Given the description of an element on the screen output the (x, y) to click on. 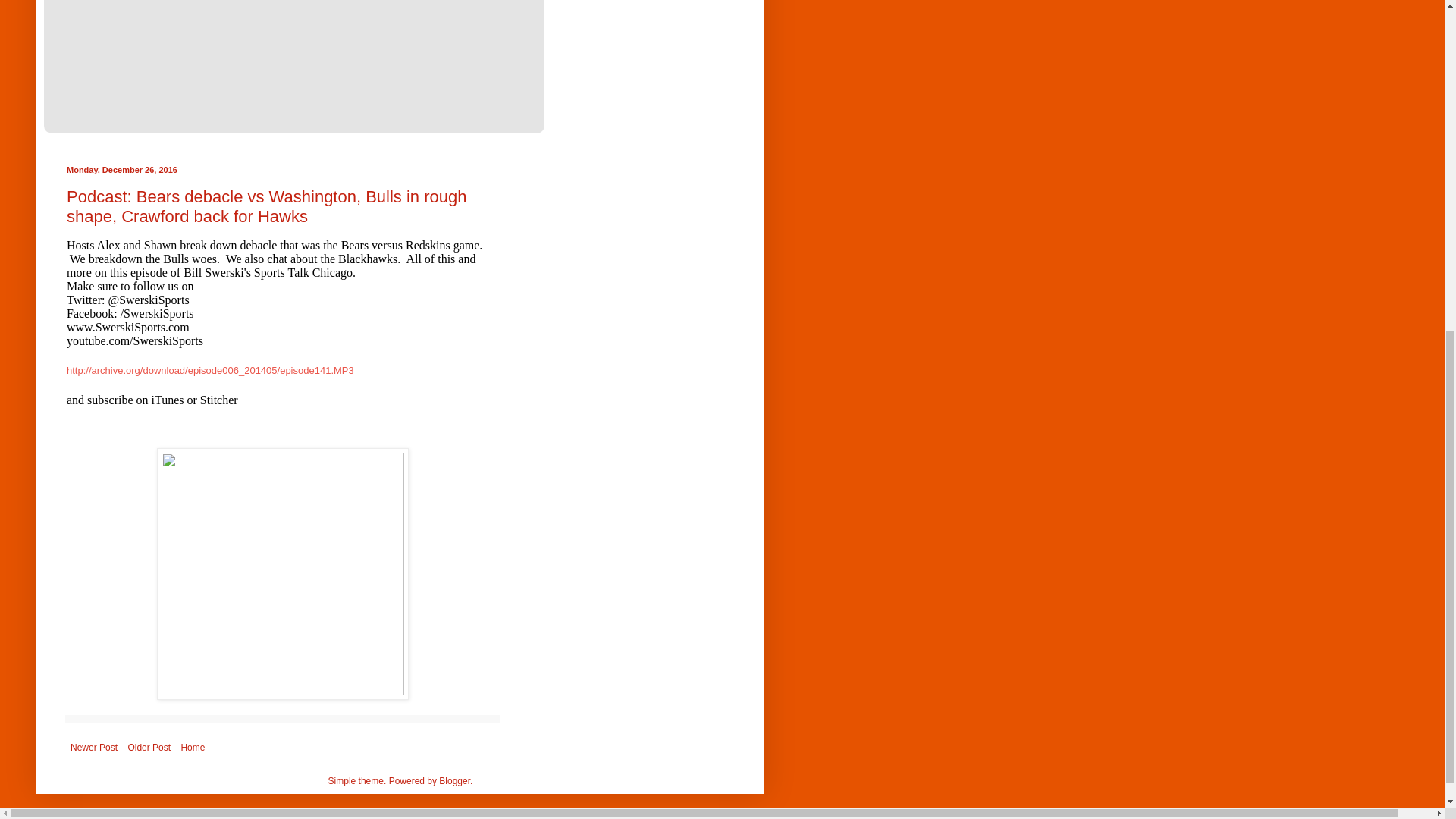
Blogger (454, 780)
Newer Post (93, 747)
Newer Post (93, 747)
Older Post (148, 747)
Home (192, 747)
Older Post (148, 747)
